Given the description of an element on the screen output the (x, y) to click on. 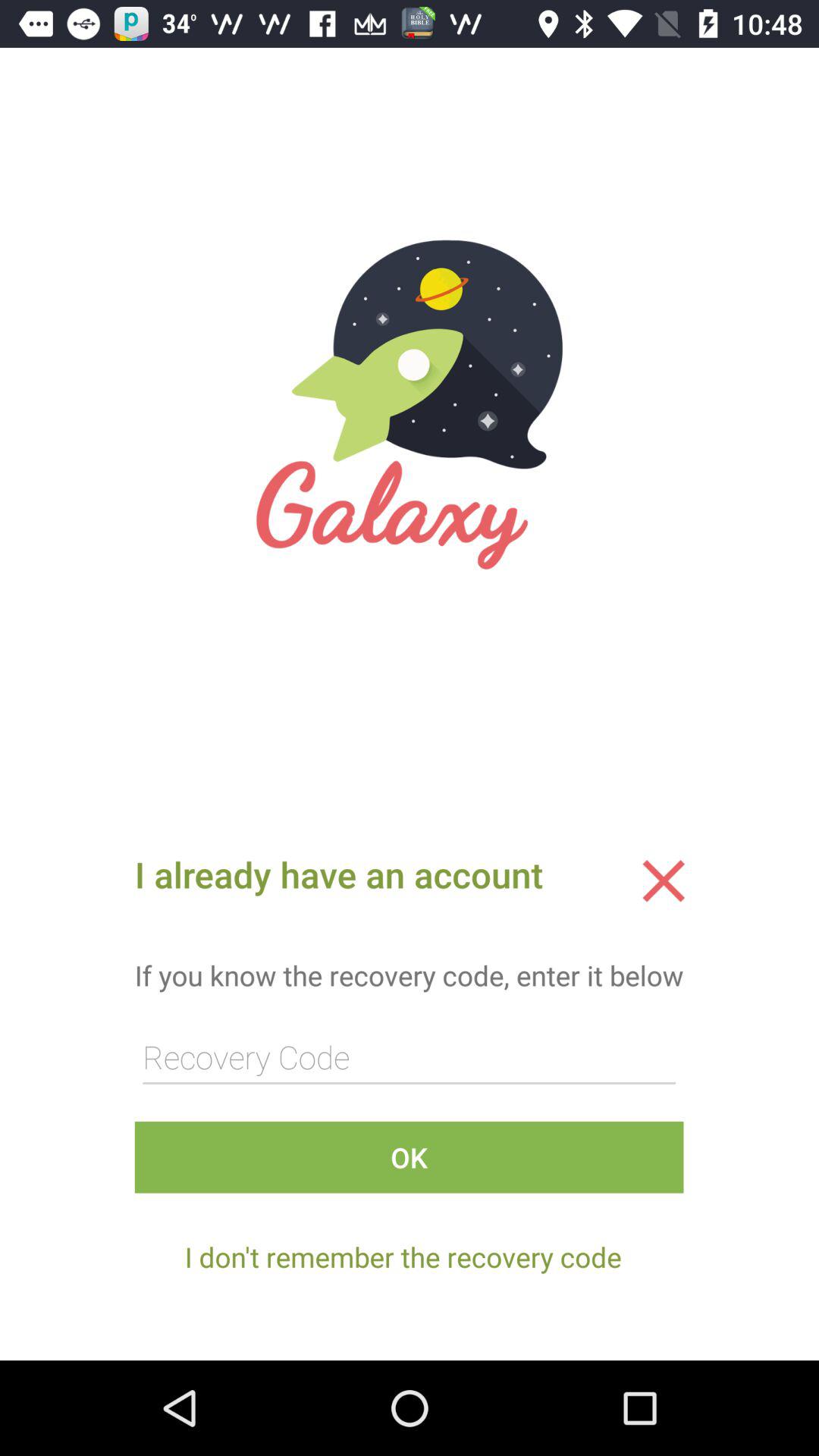
press ok (408, 1157)
